Given the description of an element on the screen output the (x, y) to click on. 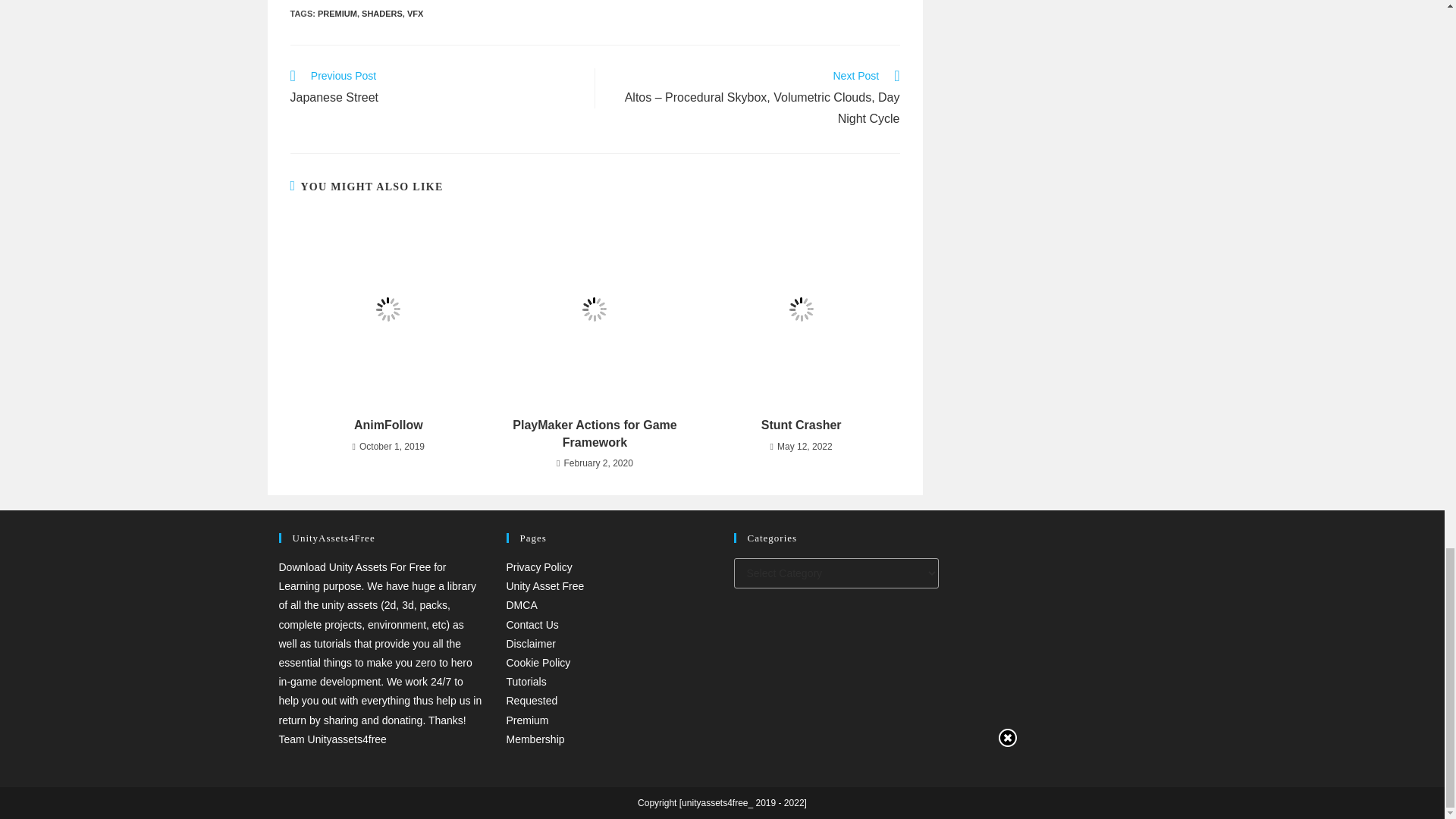
PlayMaker Actions for Game Framework (594, 433)
VFX (415, 13)
SHADERS (433, 87)
Stunt Crasher (382, 13)
AnimFollow (801, 425)
PREMIUM (387, 425)
